Given the description of an element on the screen output the (x, y) to click on. 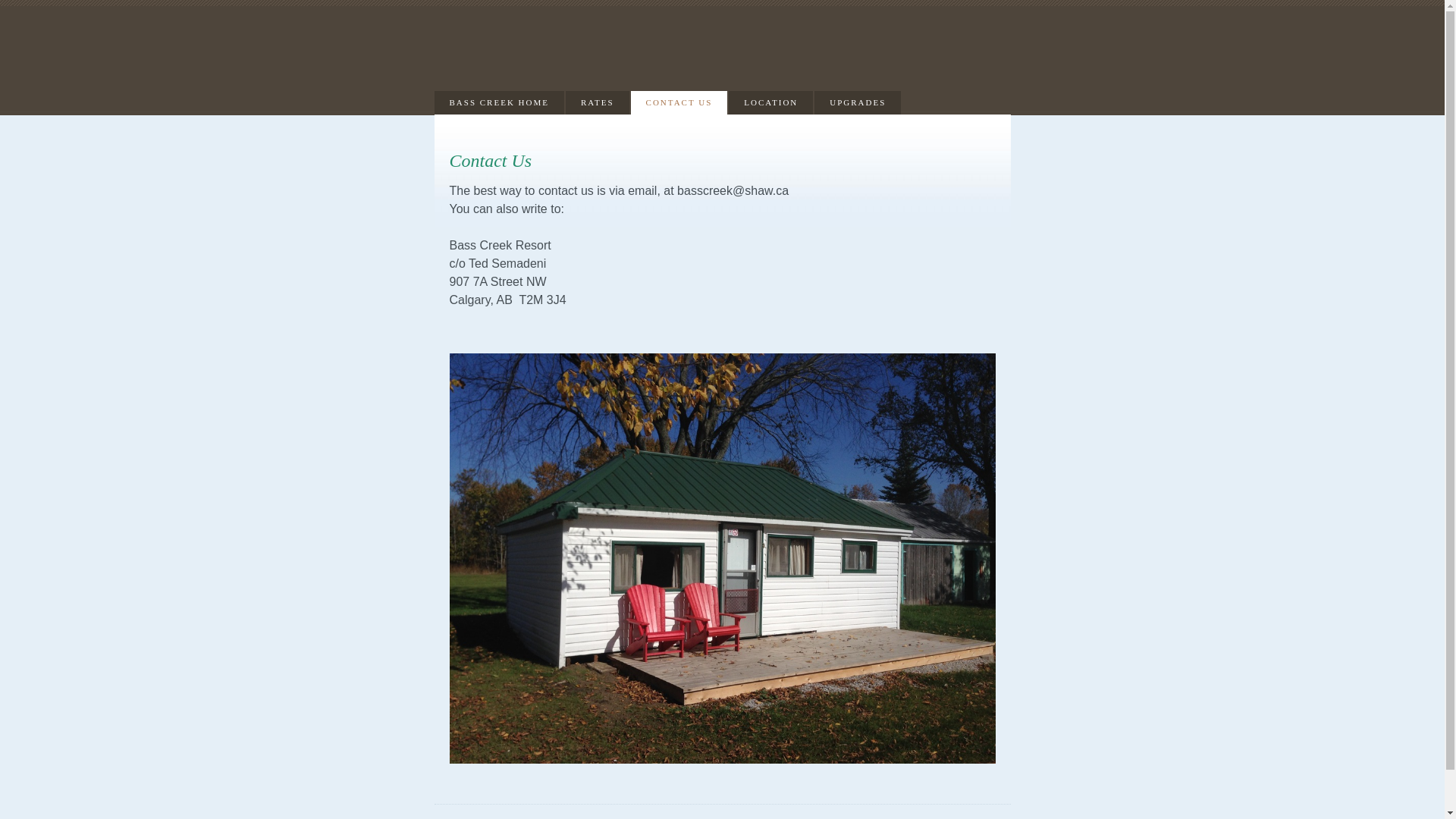
CONTACT US Element type: text (679, 102)
BASS CREEK HOME Element type: text (498, 102)
LOCATION Element type: text (770, 102)
UPGRADES Element type: text (857, 102)
RATES Element type: text (597, 102)
